Given the description of an element on the screen output the (x, y) to click on. 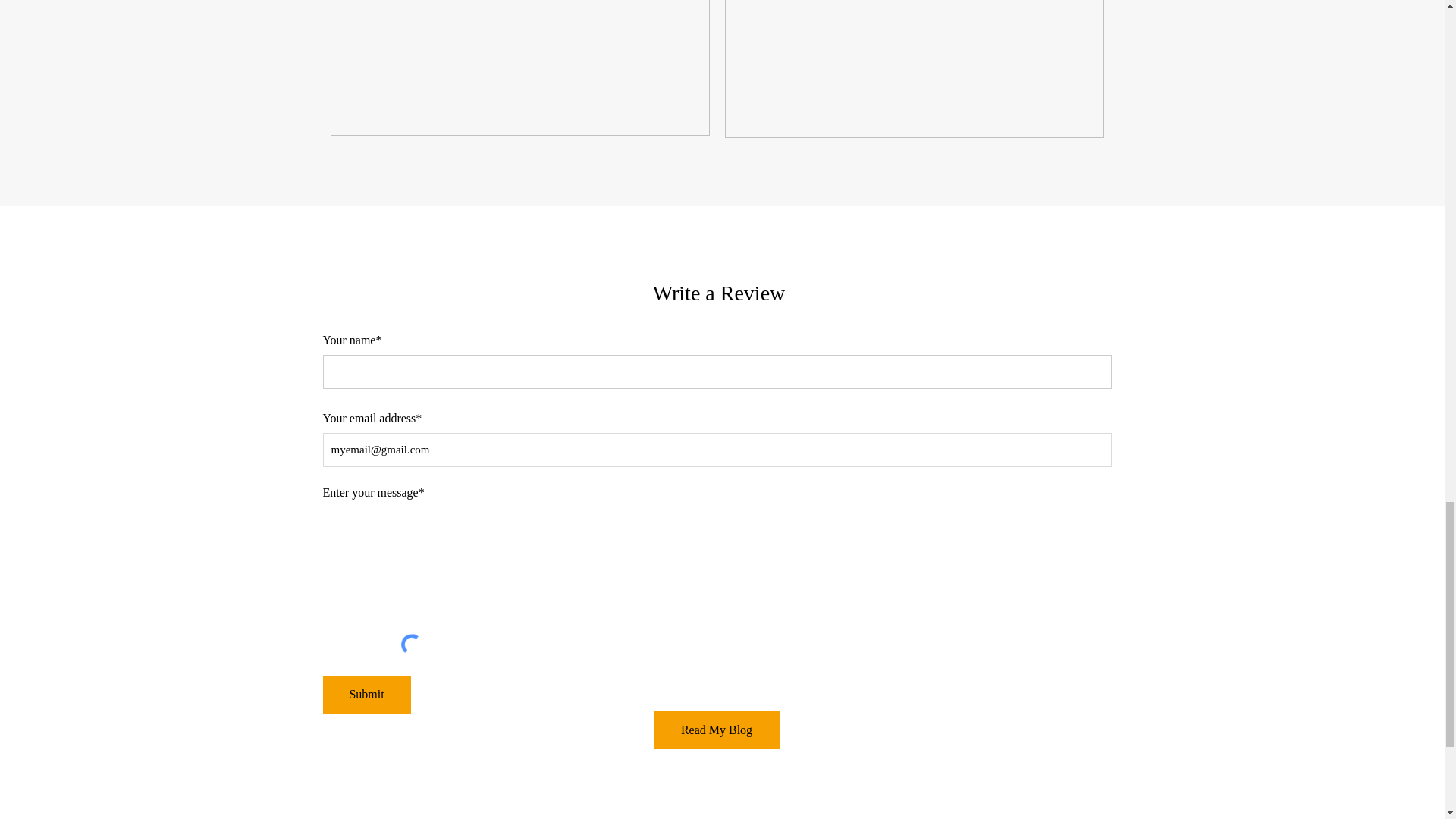
Read My Blog (716, 729)
Submit (366, 694)
